Given the description of an element on the screen output the (x, y) to click on. 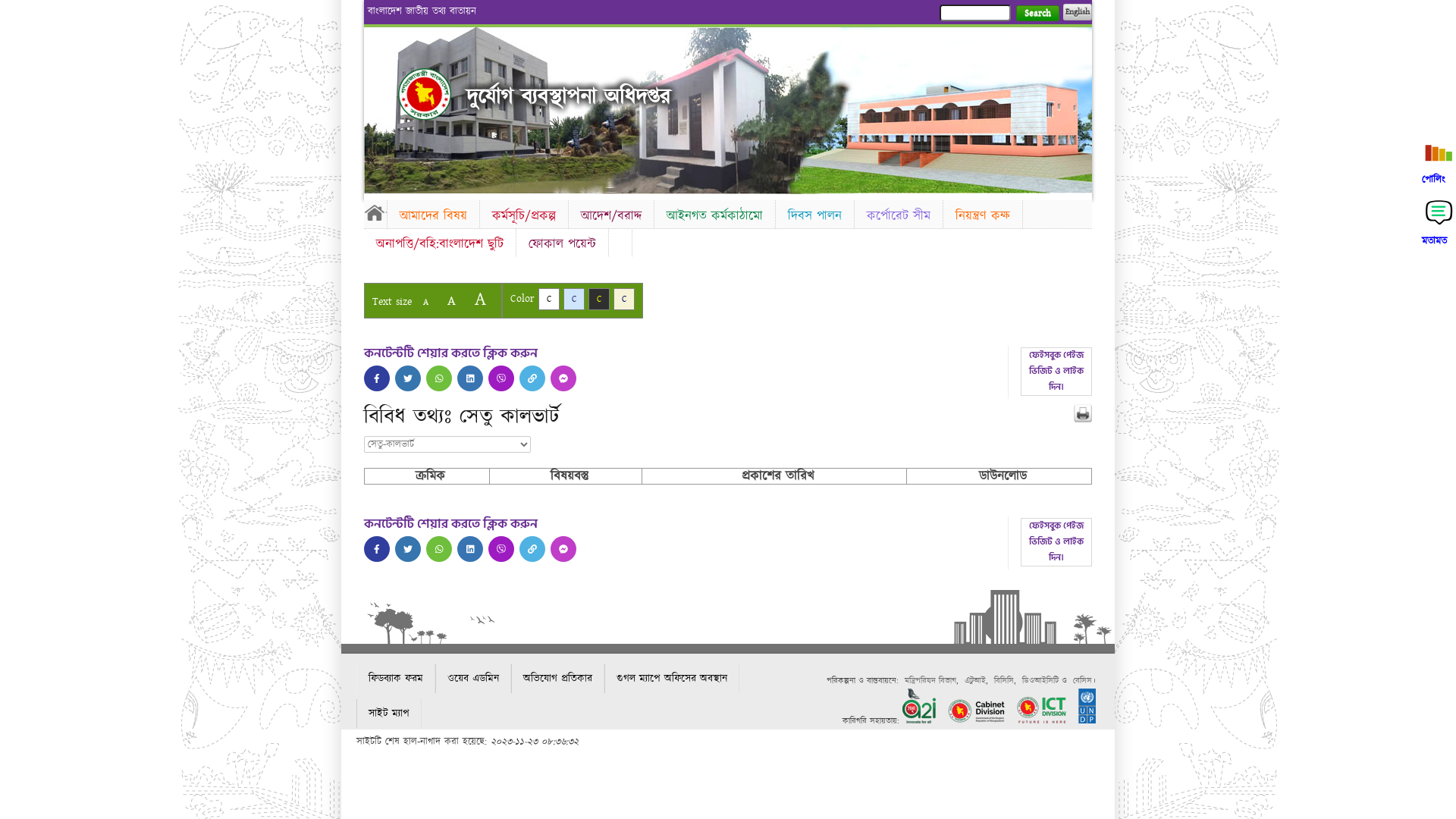
C Element type: text (573, 299)
Home Element type: hover (424, 93)
A Element type: text (480, 298)
C Element type: text (548, 299)
A Element type: text (425, 301)
C Element type: text (598, 299)
English Element type: text (1077, 11)
Search Element type: text (1037, 13)
C Element type: text (623, 299)
Home Element type: hover (375, 211)
A Element type: text (451, 300)
